Given the description of an element on the screen output the (x, y) to click on. 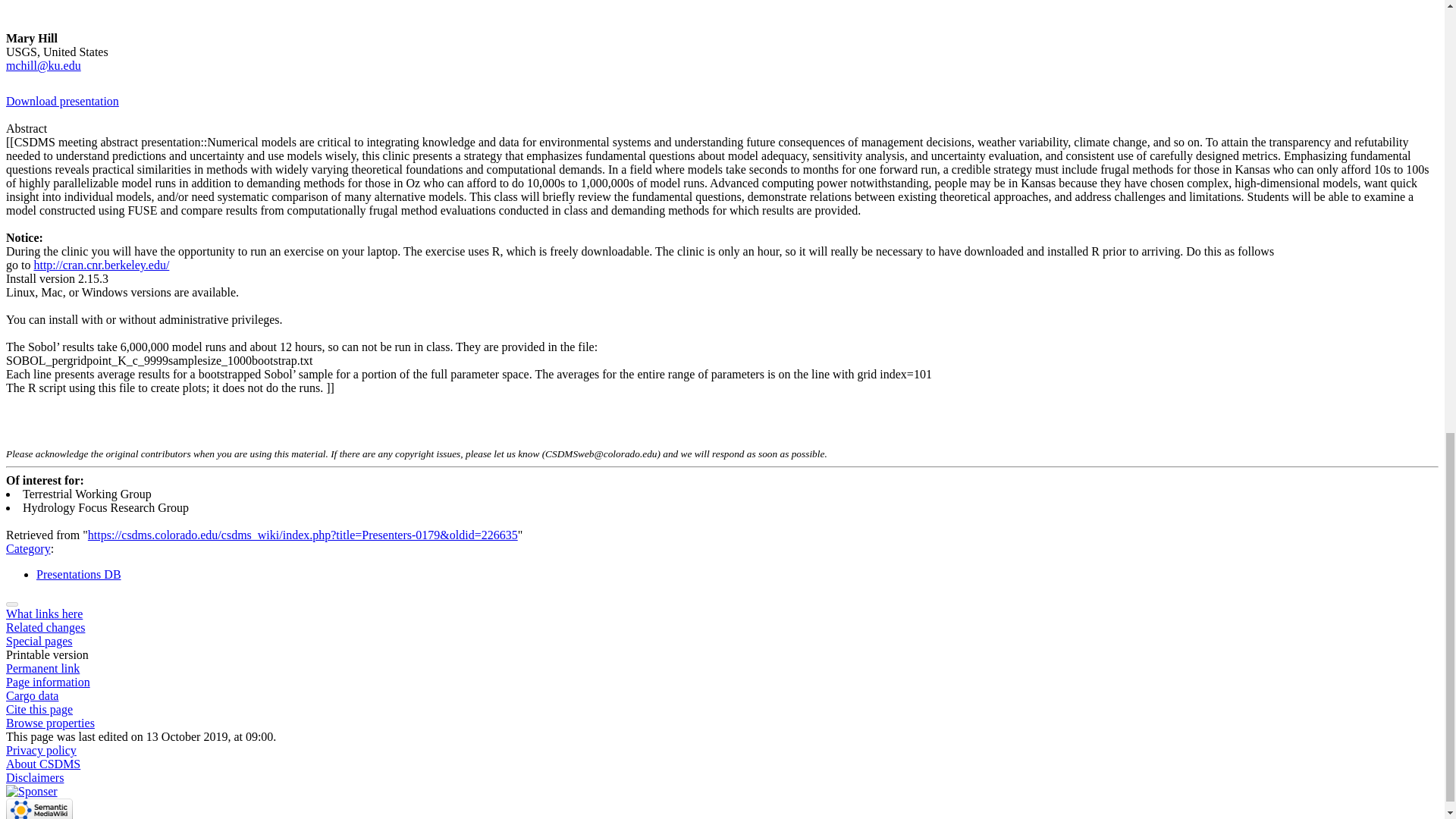
More information about this page (47, 681)
Information on how to cite this page (38, 708)
Special:Categories (27, 548)
Permanent link to this revision of this page (42, 667)
